Given the description of an element on the screen output the (x, y) to click on. 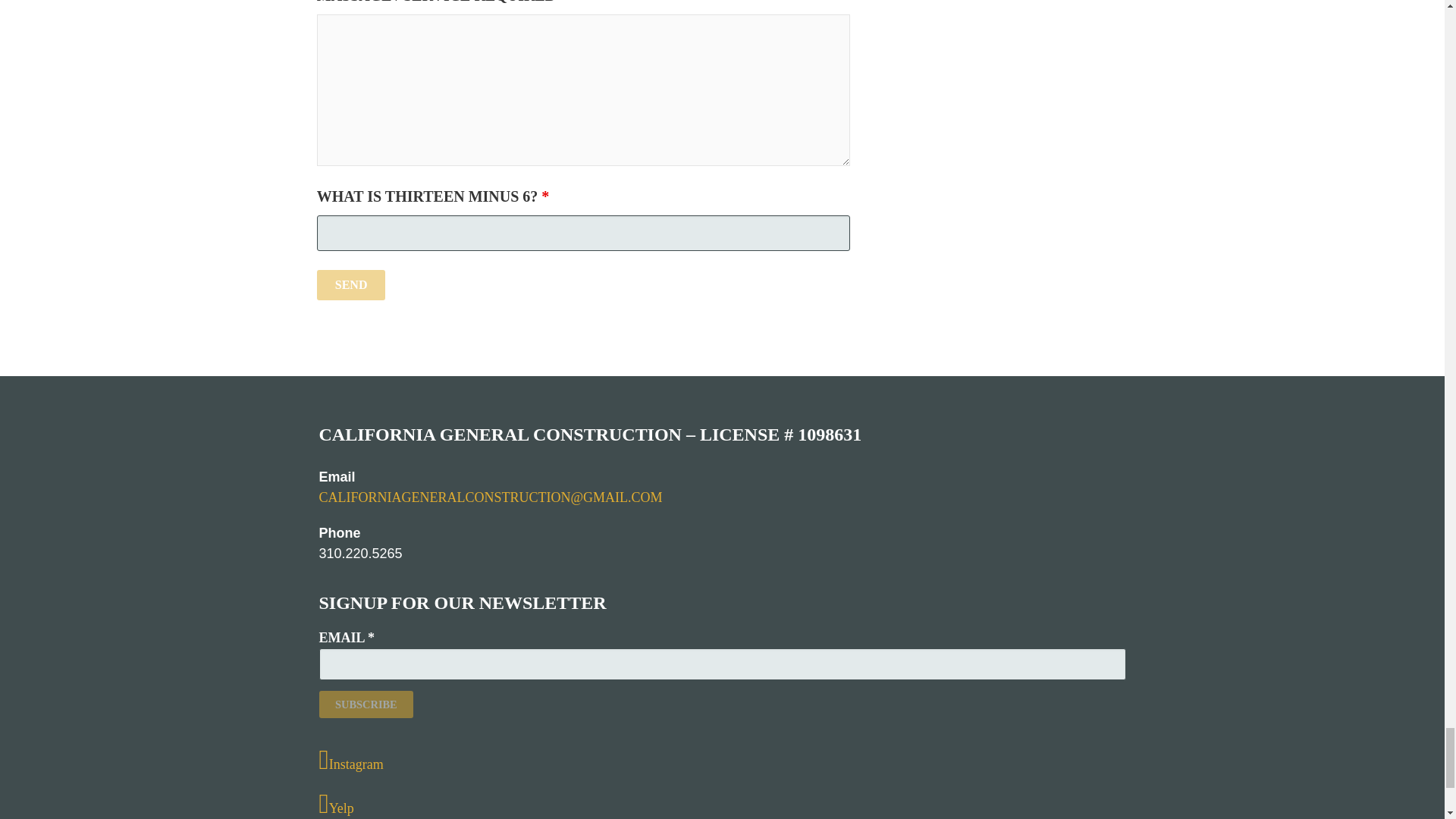
Instagram (721, 760)
Subscribe (365, 704)
Send (351, 285)
Yelp (721, 804)
Subscribe (365, 704)
Send (351, 285)
Visit CALIFORNIA GENERAL CONSTRUCTION on Yelp (721, 804)
Visit CALIFORNIA GENERAL CONSTRUCTION on Instagram (721, 760)
